Given the description of an element on the screen output the (x, y) to click on. 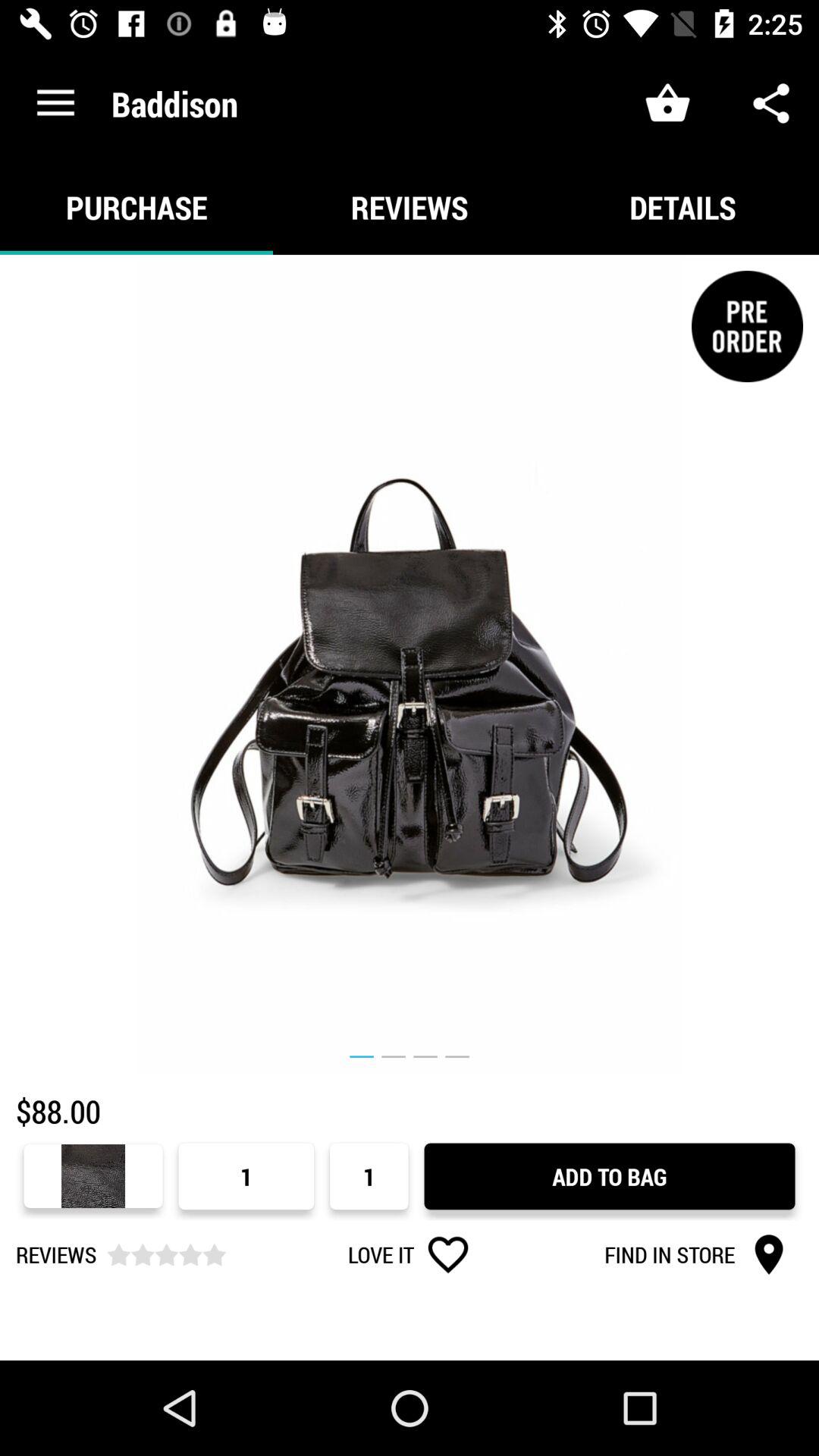
click the icon to the left of the baddison item (55, 103)
